Given the description of an element on the screen output the (x, y) to click on. 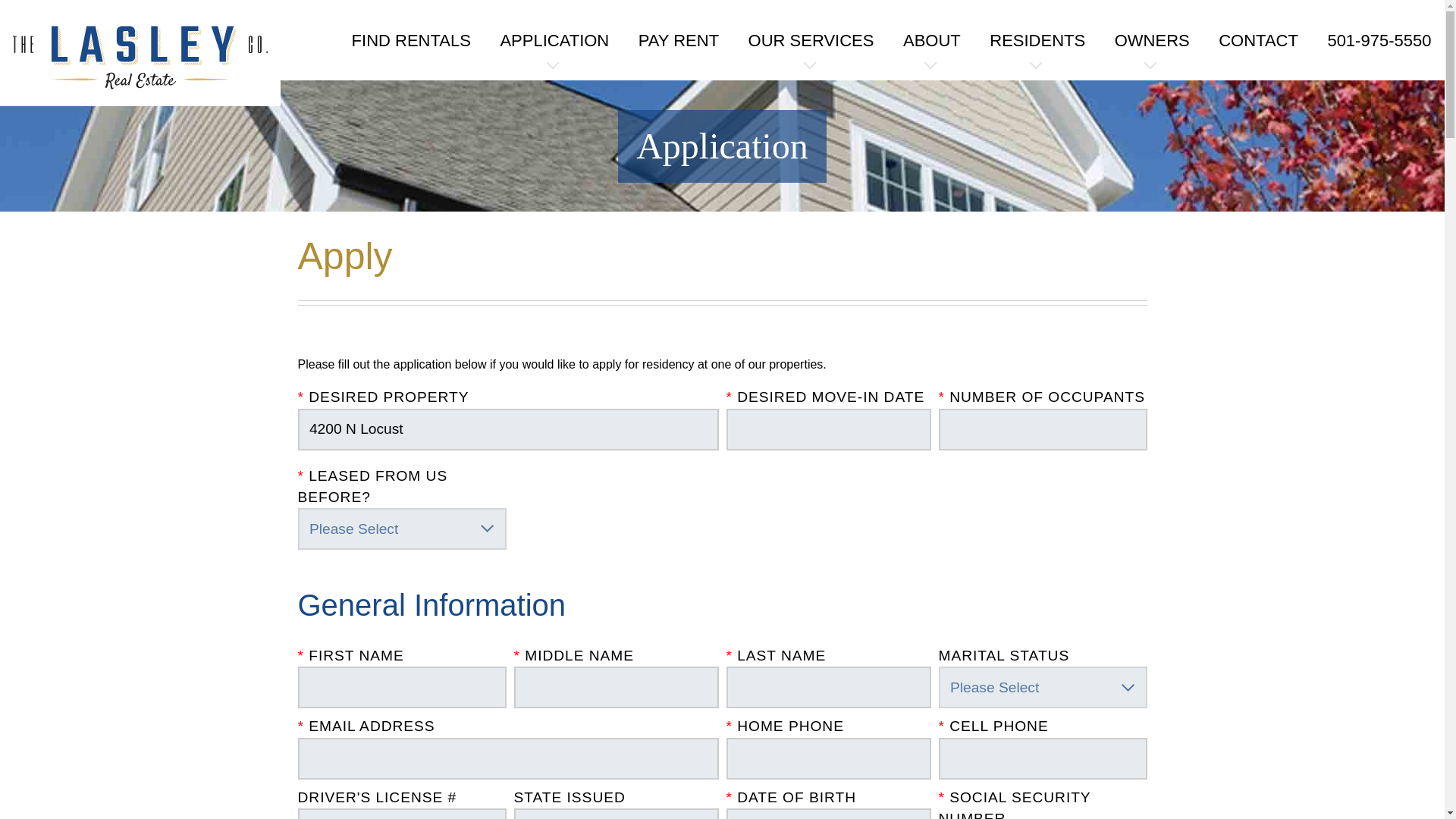
The Lasley Company (140, 59)
RESIDENTS (1037, 40)
CONTACT (1258, 40)
4200 N Locust  (507, 429)
APPLICATION (553, 40)
FIND RENTALS (411, 40)
501-975-5550 (1378, 40)
ABOUT (931, 40)
OUR SERVICES (811, 40)
PAY RENT (679, 40)
OWNERS (1152, 40)
